Given the description of an element on the screen output the (x, y) to click on. 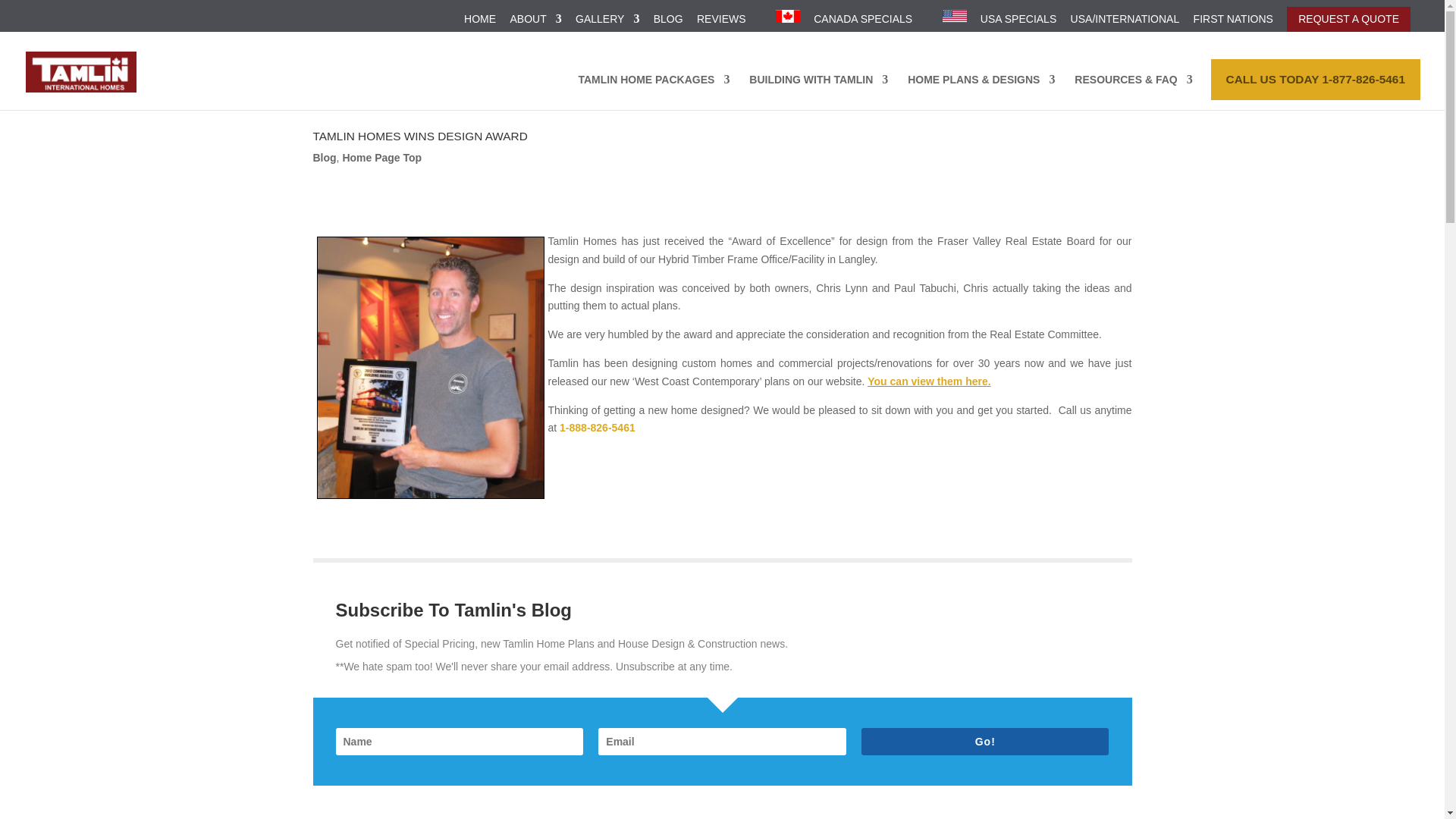
CANADA SPECIALS (862, 22)
ABOUT (534, 22)
HOME (480, 22)
West Coast and Contemporary Plans (928, 381)
GALLERY (607, 22)
TAMLIN HOME PACKAGES (653, 91)
REVIEWS (721, 22)
FIRST NATIONS (1232, 22)
BLOG (667, 22)
BUILDING WITH TAMLIN (818, 91)
REQUEST A QUOTE (1348, 18)
USA SPECIALS (1018, 22)
